Given the description of an element on the screen output the (x, y) to click on. 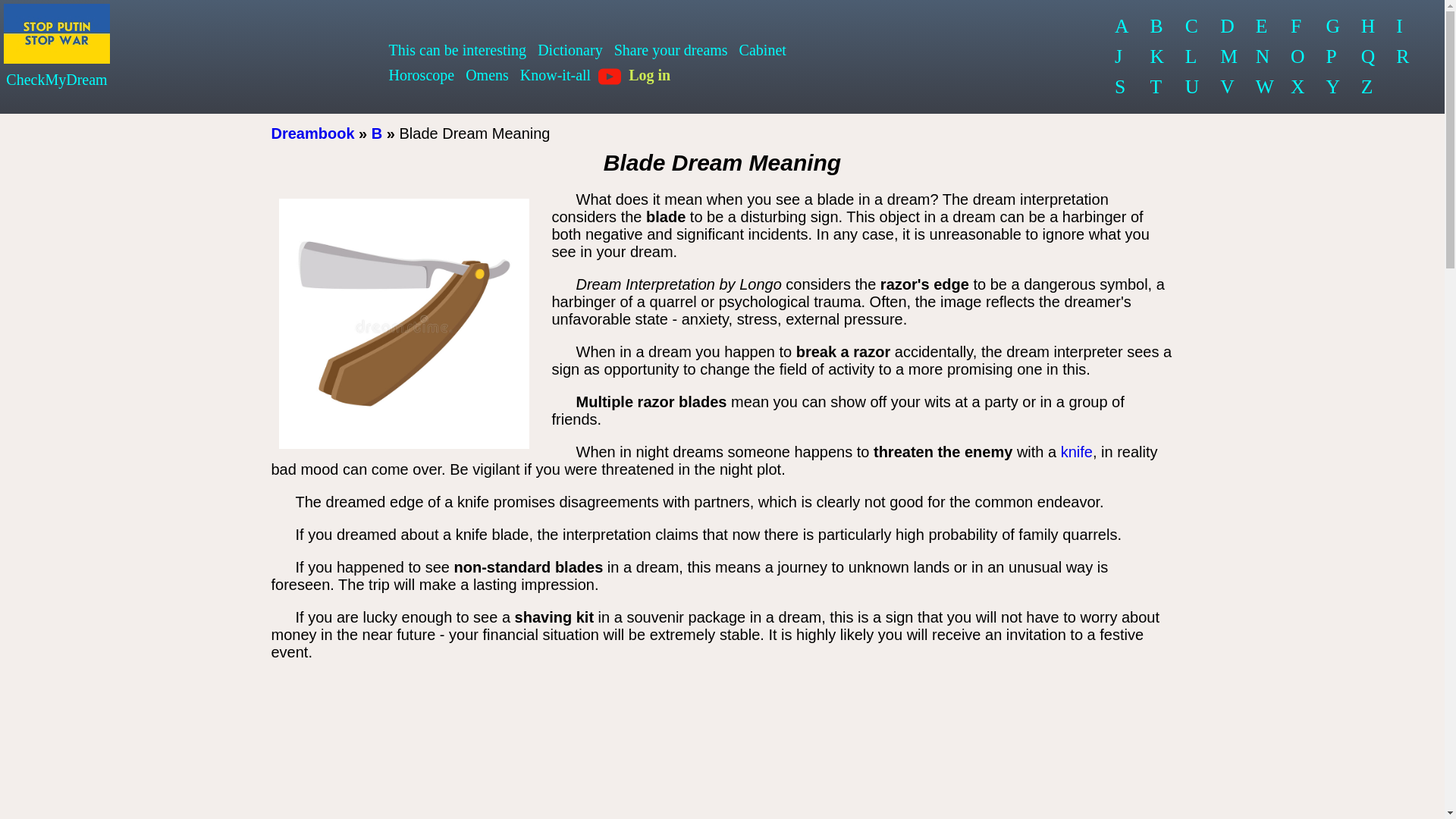
S (1121, 87)
Y (1332, 87)
C (1192, 26)
T (1156, 87)
R (1403, 56)
Omens (486, 75)
knife (1077, 451)
Dictionary (570, 50)
D (1227, 26)
X (1297, 87)
